Given the description of an element on the screen output the (x, y) to click on. 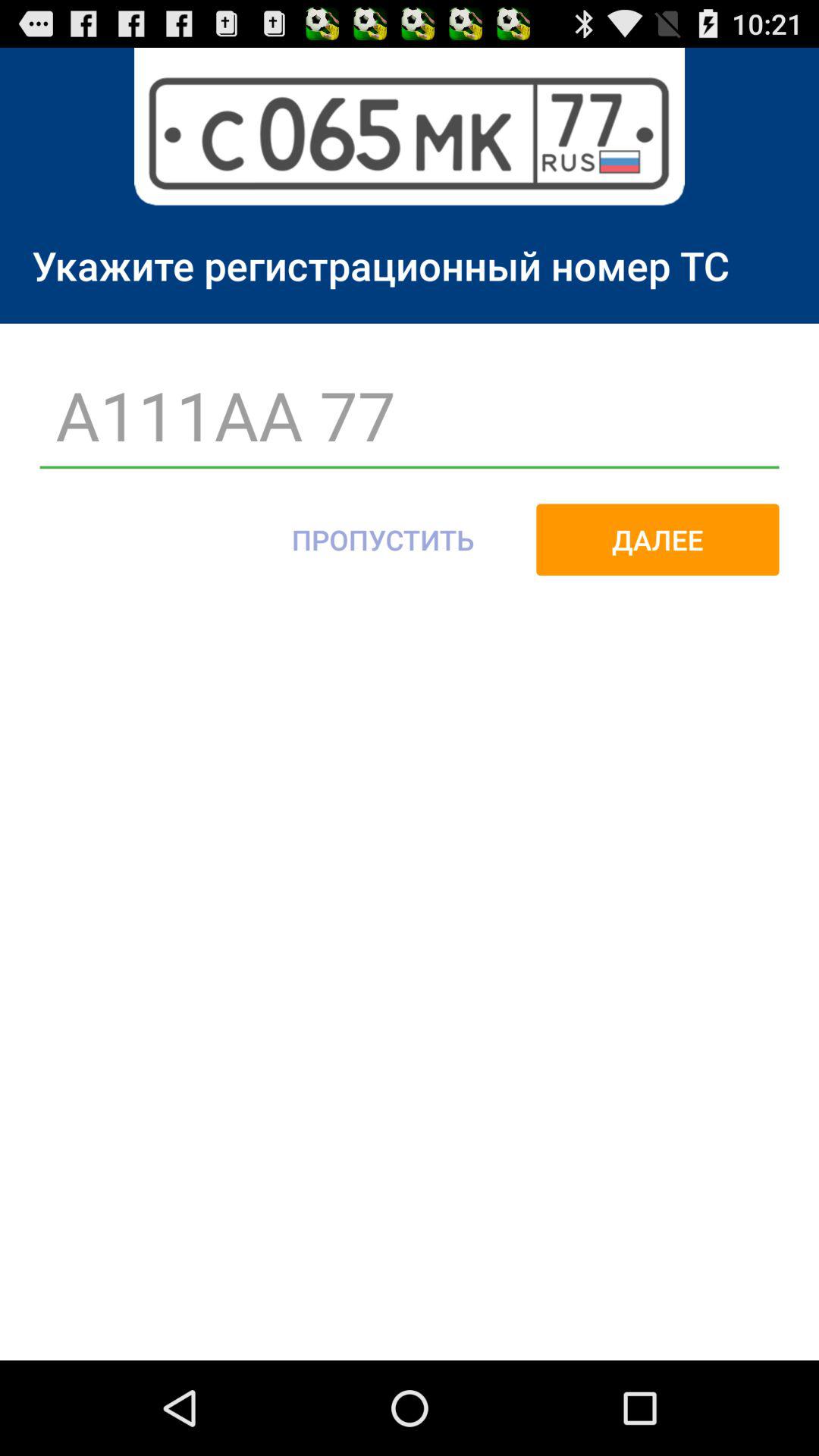
tap icon at the center (382, 539)
